Given the description of an element on the screen output the (x, y) to click on. 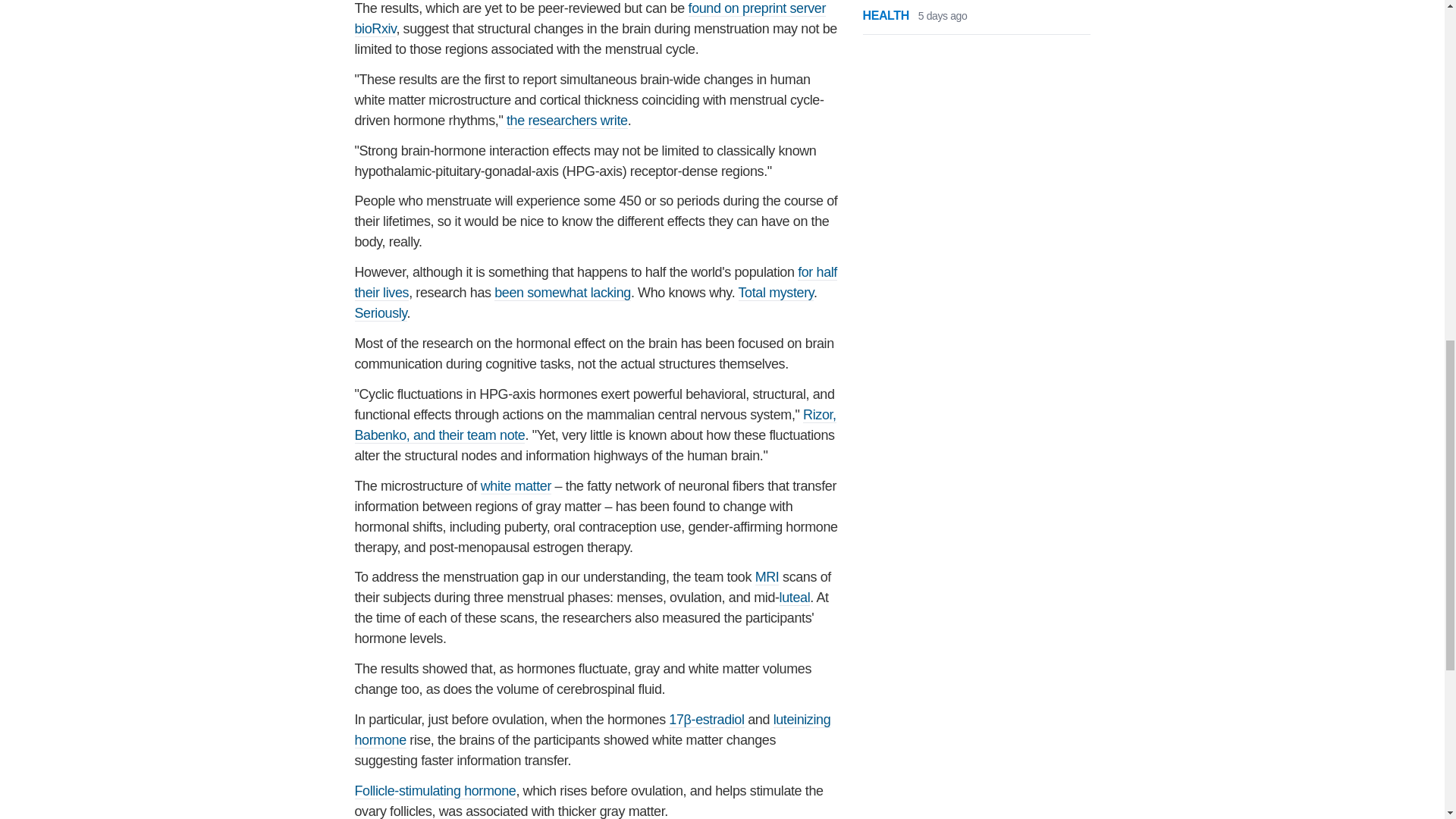
found on preprint server bioRxiv (591, 18)
white matter (515, 486)
Total mystery (775, 293)
the researchers write (566, 120)
Rizor, Babenko, and their team note (595, 425)
for half their lives (596, 282)
MRI (766, 577)
Seriously (381, 313)
been somewhat lacking (562, 293)
